Given the description of an element on the screen output the (x, y) to click on. 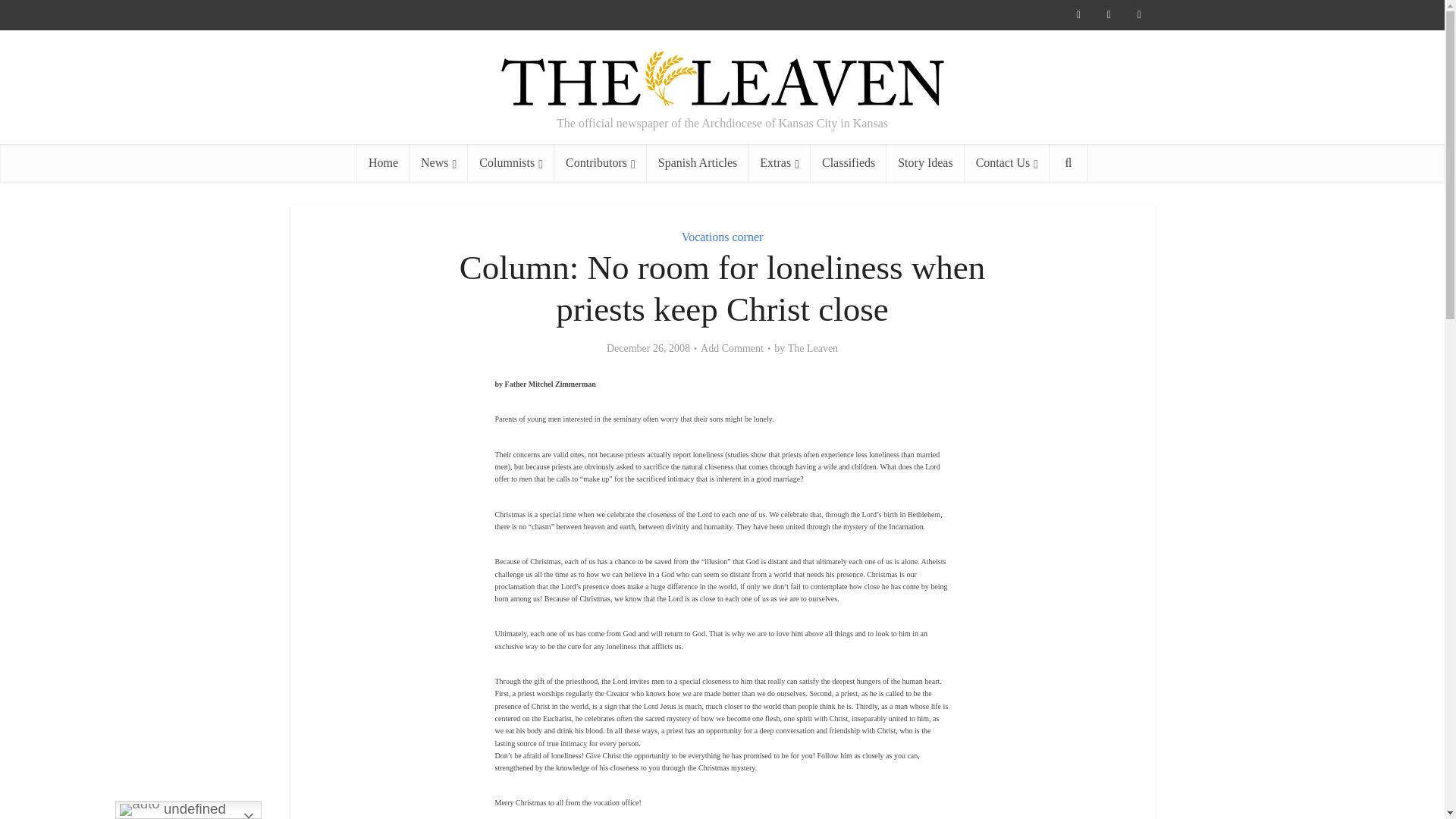
None (438, 162)
News (438, 162)
Home (382, 162)
Classifieds (848, 162)
Page 8 (722, 718)
Columnists (510, 162)
Contributors (600, 162)
Spanish Articles (697, 162)
Extras (779, 162)
